Given the description of an element on the screen output the (x, y) to click on. 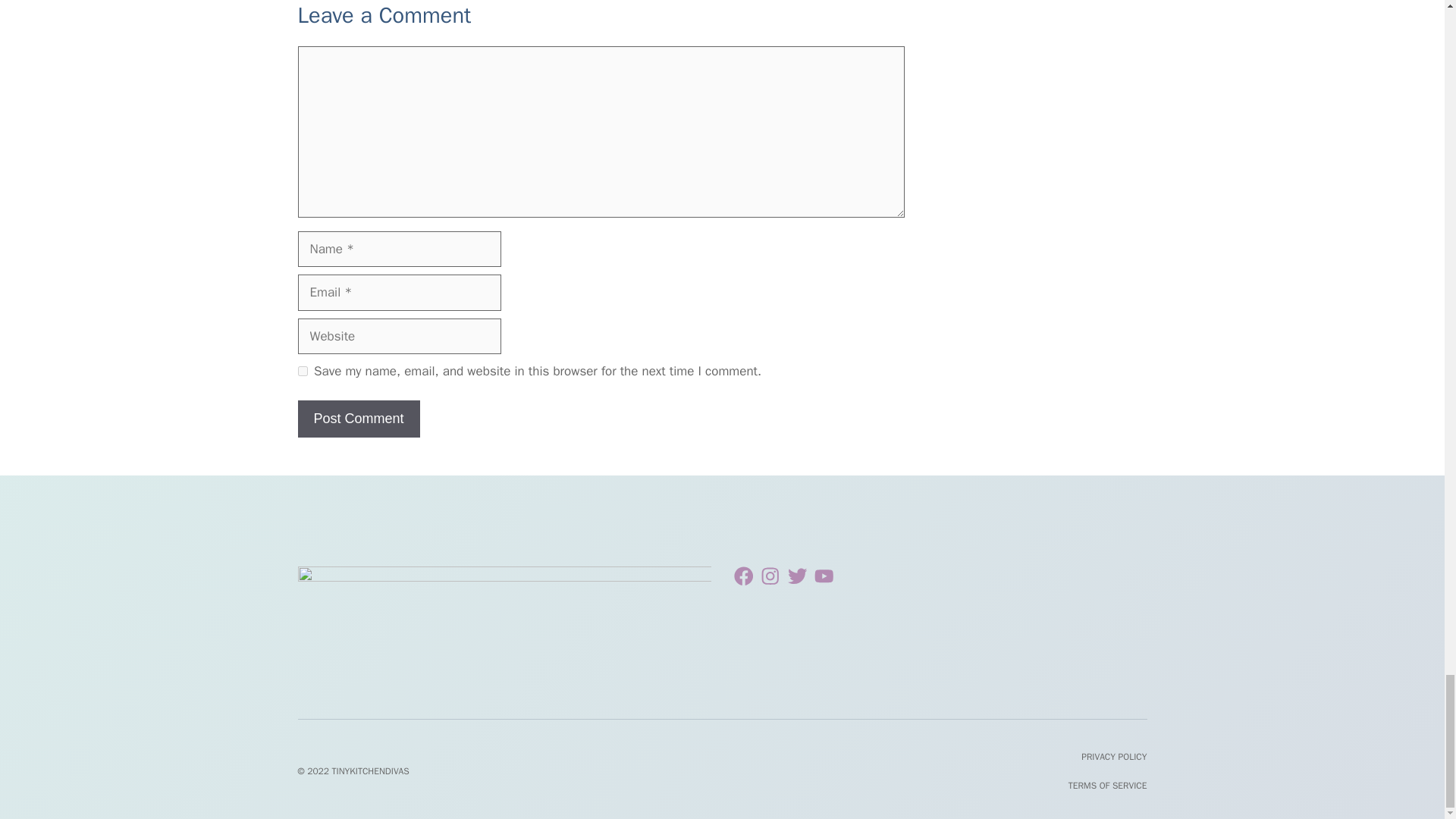
Post Comment (358, 418)
yes (302, 370)
Post Comment (358, 418)
